Given the description of an element on the screen output the (x, y) to click on. 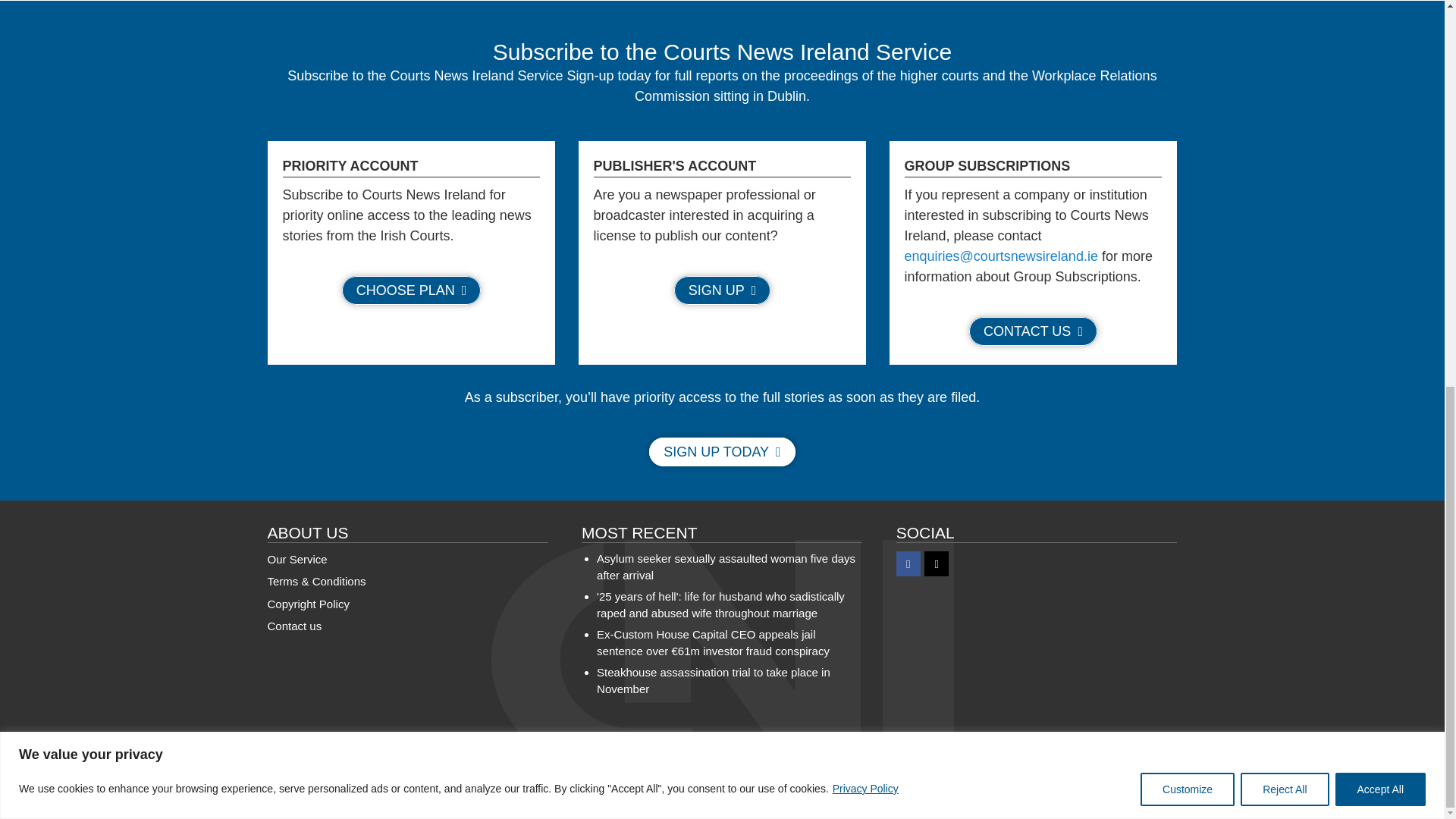
Courts News Ireland on Facebook (908, 563)
Reject All (1283, 57)
Accept All (1380, 57)
Privacy Policy (865, 57)
Courts News Ireland on X Twitter (936, 563)
Customize (1187, 57)
